Given the description of an element on the screen output the (x, y) to click on. 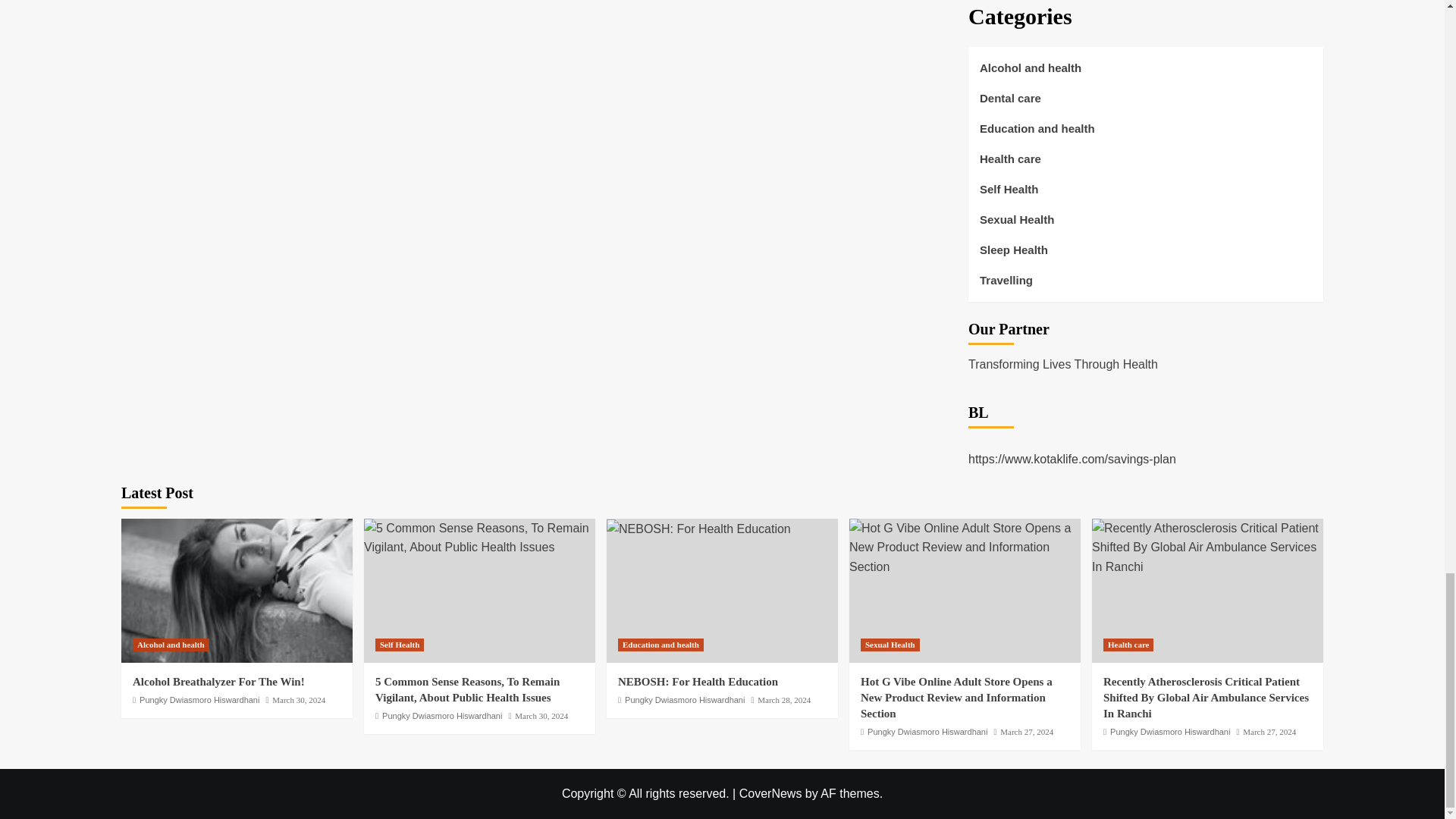
NEBOSH: For Health Education (698, 528)
Alcohol Breathalyzer For The Win! (236, 590)
